Given the description of an element on the screen output the (x, y) to click on. 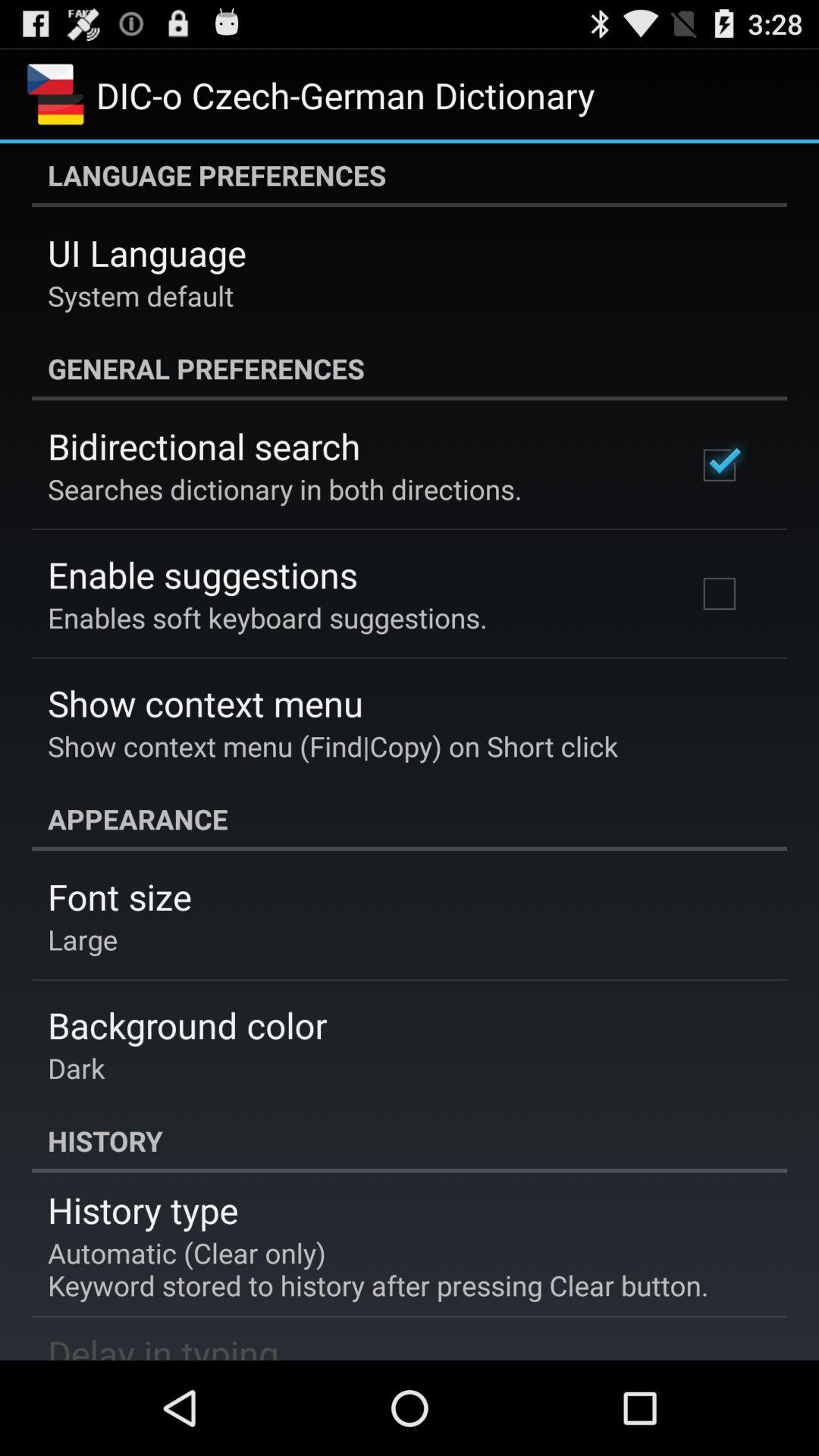
tap history type app (142, 1209)
